Given the description of an element on the screen output the (x, y) to click on. 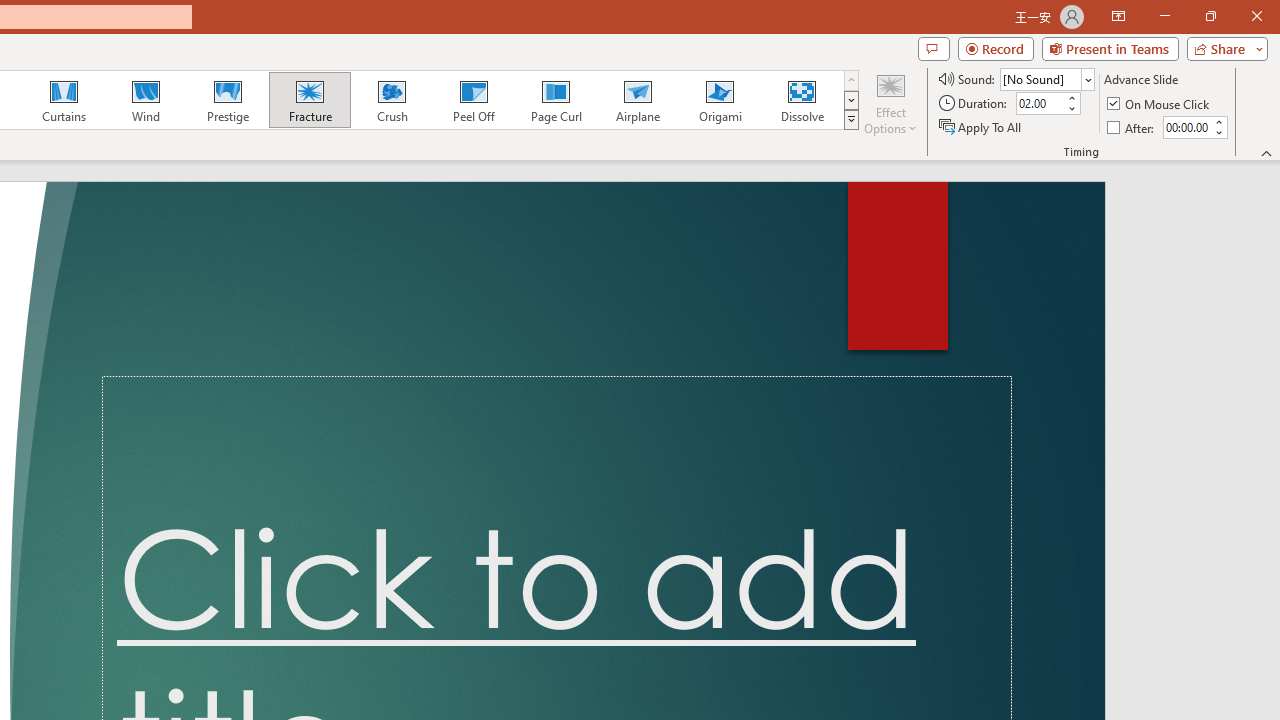
Wind (145, 100)
Curtains (63, 100)
